Given the description of an element on the screen output the (x, y) to click on. 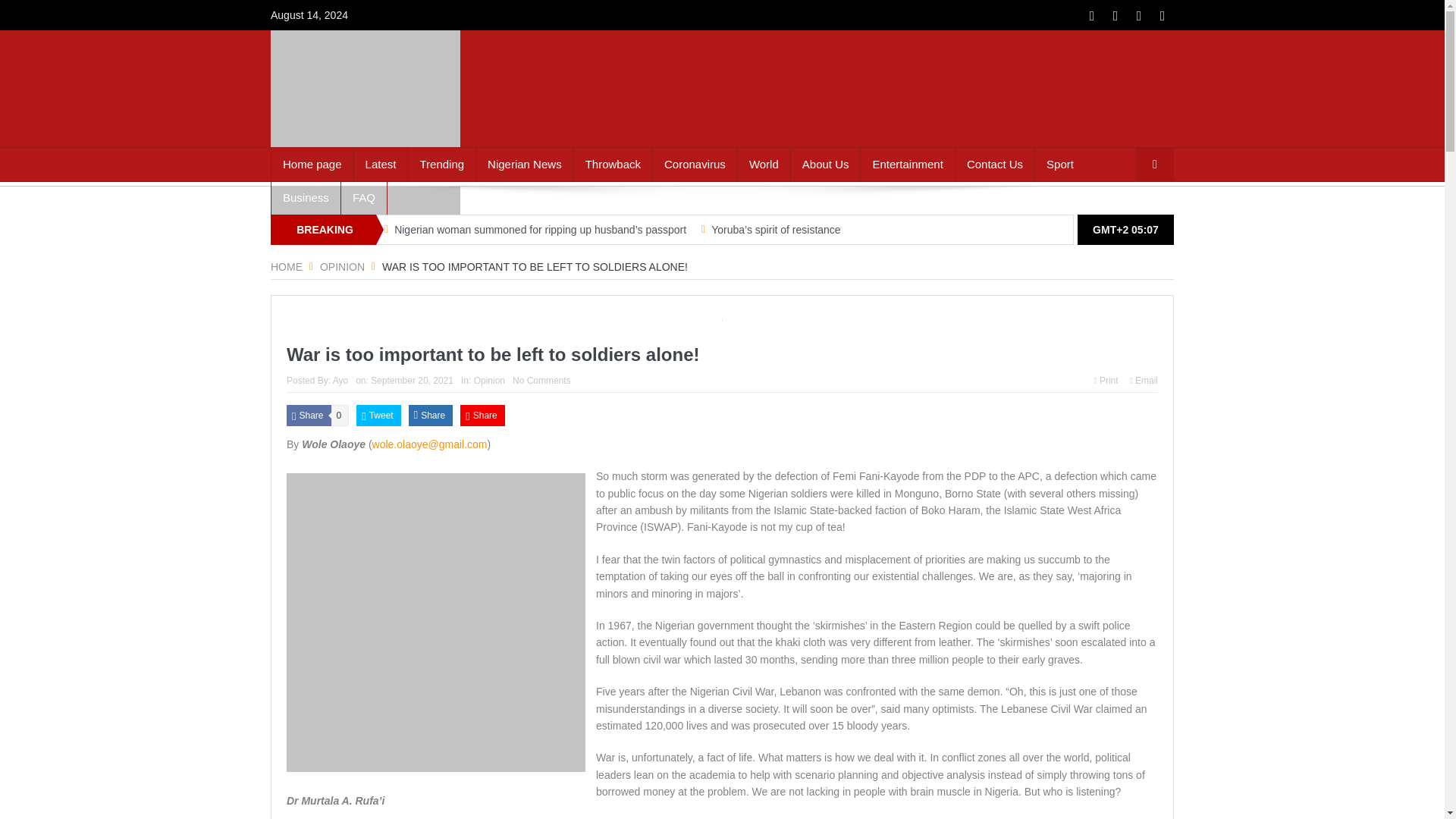
World (764, 164)
Home page (311, 164)
Contact Us (994, 164)
Throwback (612, 164)
FAQ (363, 197)
Coronavirus (694, 164)
Latest (380, 164)
View all posts in Opinion (489, 380)
Business (305, 197)
Trending (441, 164)
